Given the description of an element on the screen output the (x, y) to click on. 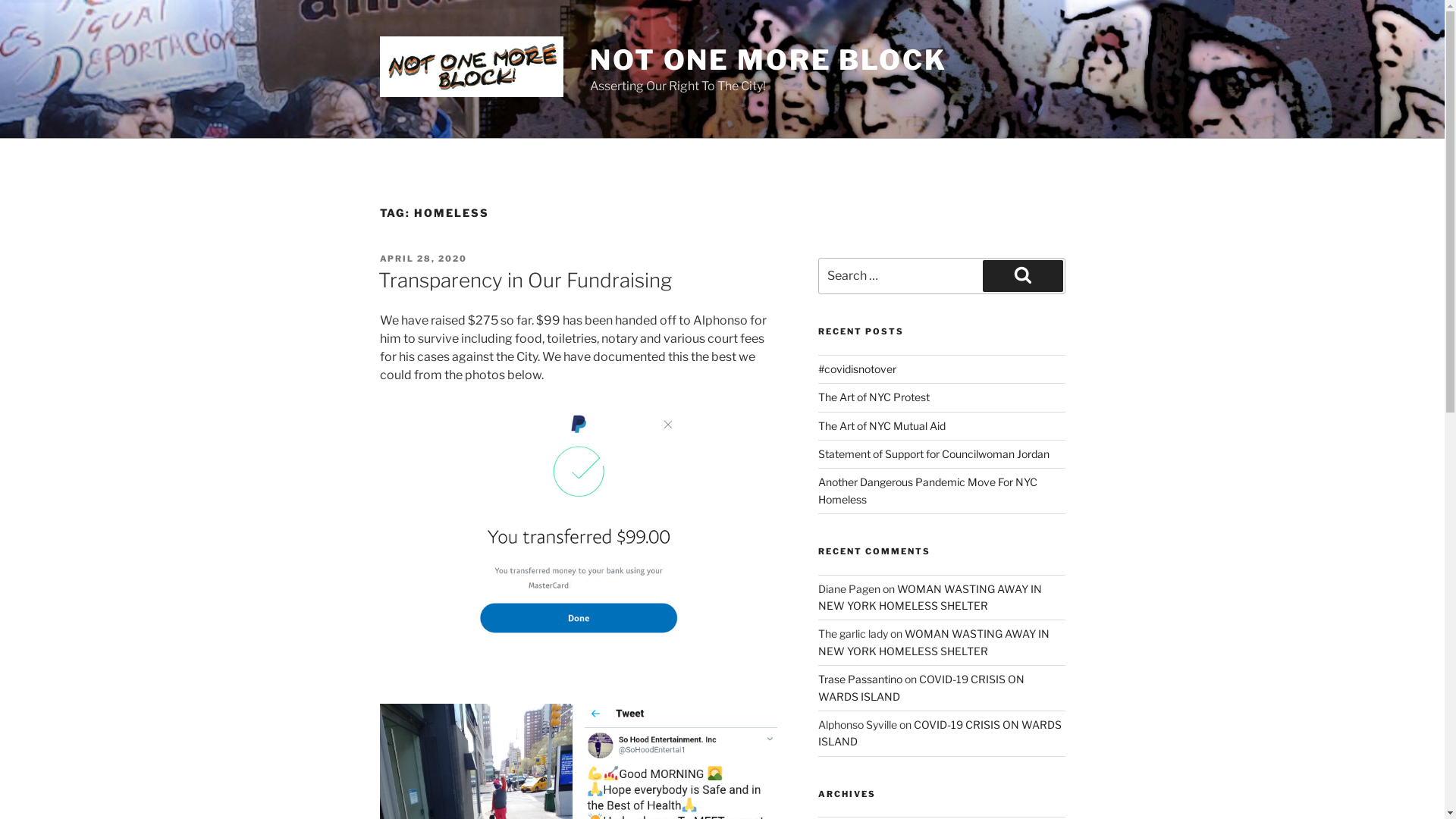
APRIL 28, 2020 Element type: text (423, 258)
The Art of NYC Protest Element type: text (873, 396)
Search Element type: text (1022, 275)
Statement of Support for Councilwoman Jordan Element type: text (933, 453)
The Art of NYC Mutual Aid Element type: text (881, 425)
COVID-19 CRISIS ON WARDS ISLAND Element type: text (921, 687)
COVID-19 CRISIS ON WARDS ISLAND Element type: text (939, 732)
Trase Passantino Element type: text (860, 678)
NOT ONE MORE BLOCK Element type: text (768, 59)
#covidisnotover Element type: text (857, 368)
Another Dangerous Pandemic Move For NYC Homeless Element type: text (927, 490)
WOMAN WASTING AWAY IN NEW YORK HOMELESS SHELTER Element type: text (933, 641)
Transparency in Our Fundraising Element type: text (524, 279)
WOMAN WASTING AWAY IN NEW YORK HOMELESS SHELTER Element type: text (929, 596)
